Given the description of an element on the screen output the (x, y) to click on. 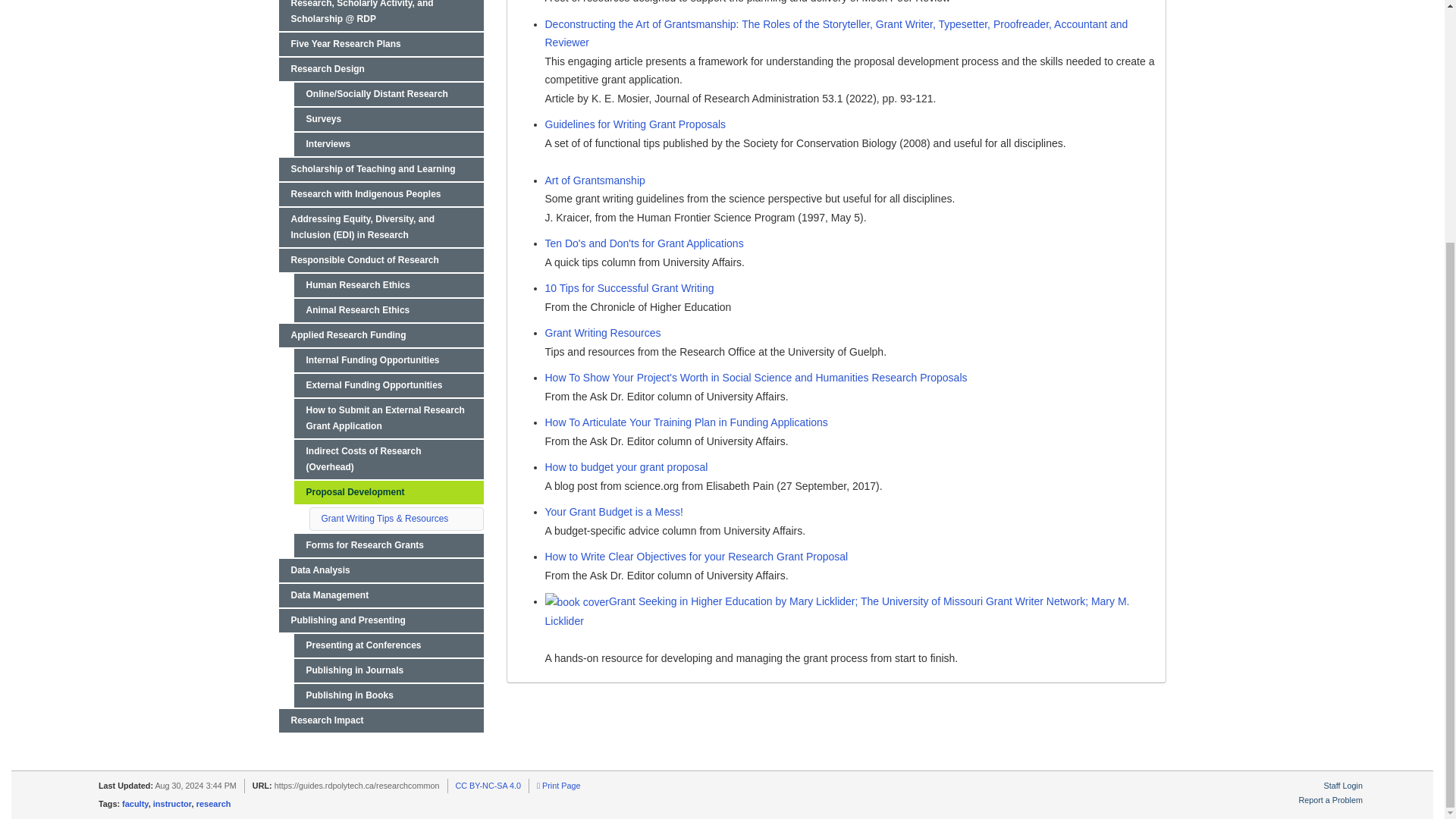
Forms for Research Grants (388, 545)
Publishing and Presenting (381, 620)
Research Design (381, 69)
Research with Indigenous Peoples (381, 194)
Applied Research Funding (381, 335)
Internal Funding Opportunities (388, 360)
Proposal Development (388, 492)
Presenting at Conferences (388, 645)
Animal Research Ethics (388, 310)
Interviews (388, 144)
